Given the description of an element on the screen output the (x, y) to click on. 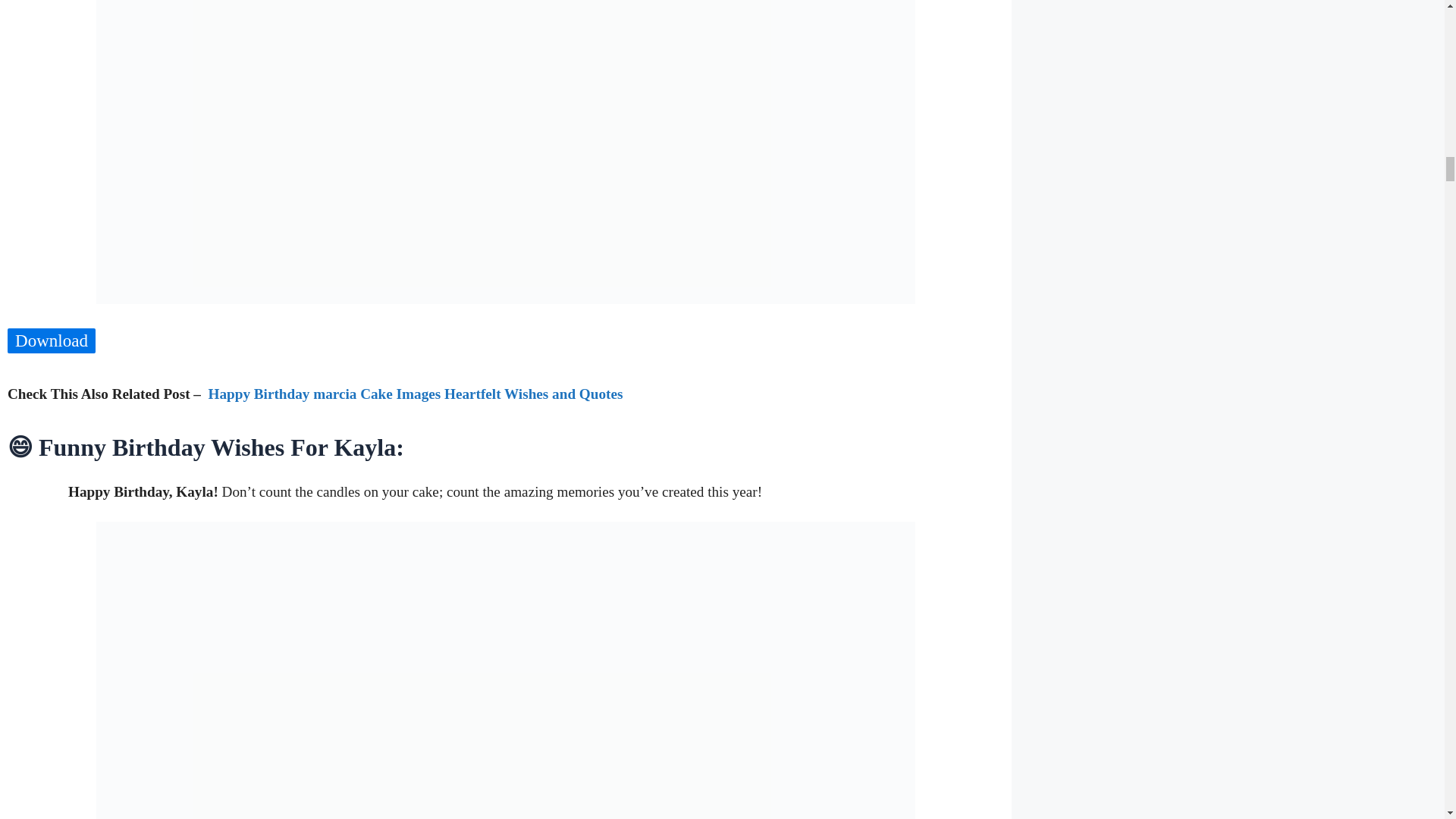
Download (51, 341)
Download (51, 340)
